Given the description of an element on the screen output the (x, y) to click on. 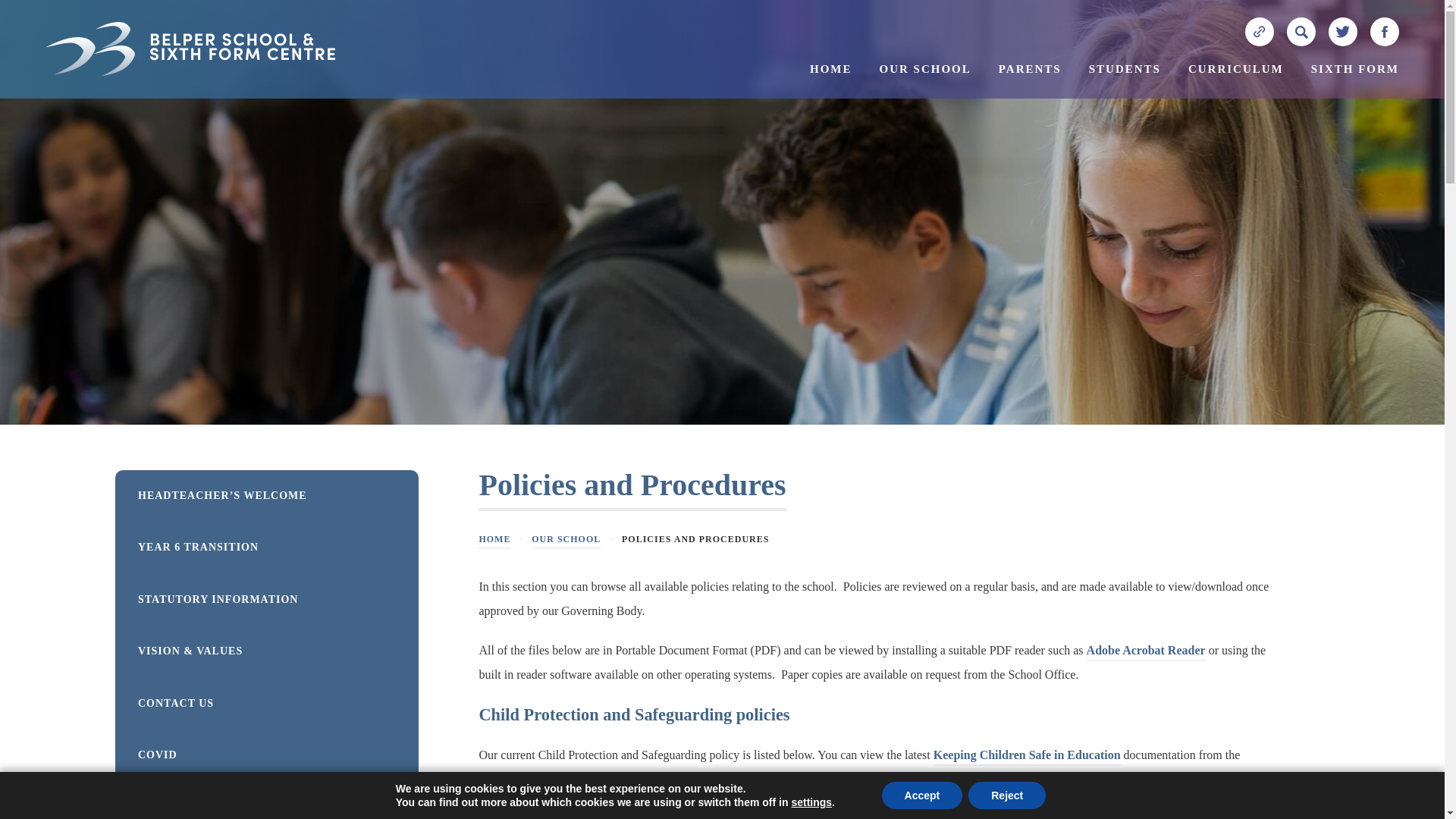
PARENTS (1030, 80)
OUR SCHOOL (925, 80)
HOME (830, 80)
Adobe Acrobat Reader (1145, 651)
